Given the description of an element on the screen output the (x, y) to click on. 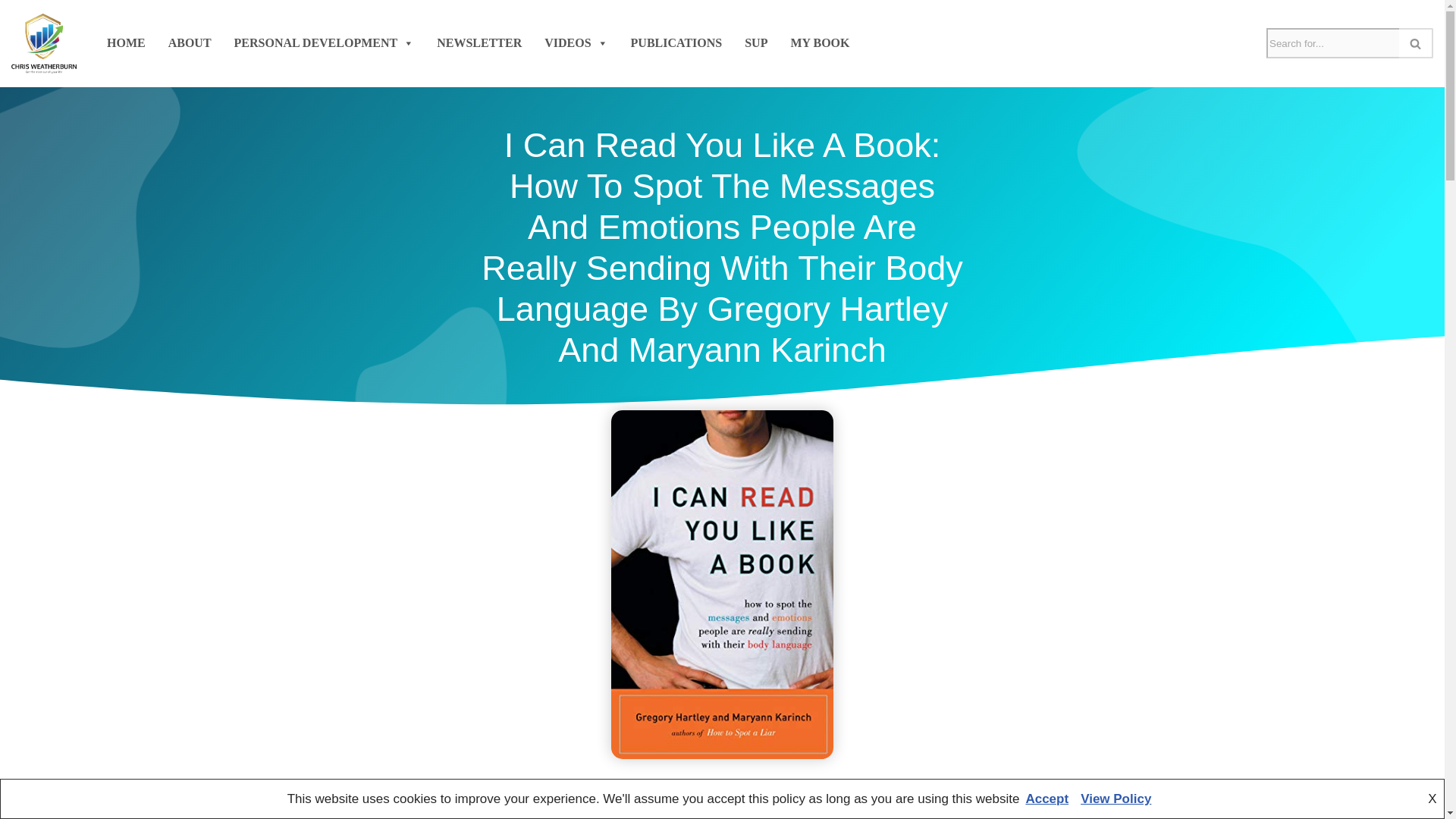
HOME (125, 42)
Skip to content (11, 31)
MY BOOK (820, 42)
PUBLICATIONS (676, 42)
PERSONAL DEVELOPMENT (324, 42)
ABOUT (189, 42)
NEWSLETTER (479, 42)
VIDEOS (575, 42)
